Given the description of an element on the screen output the (x, y) to click on. 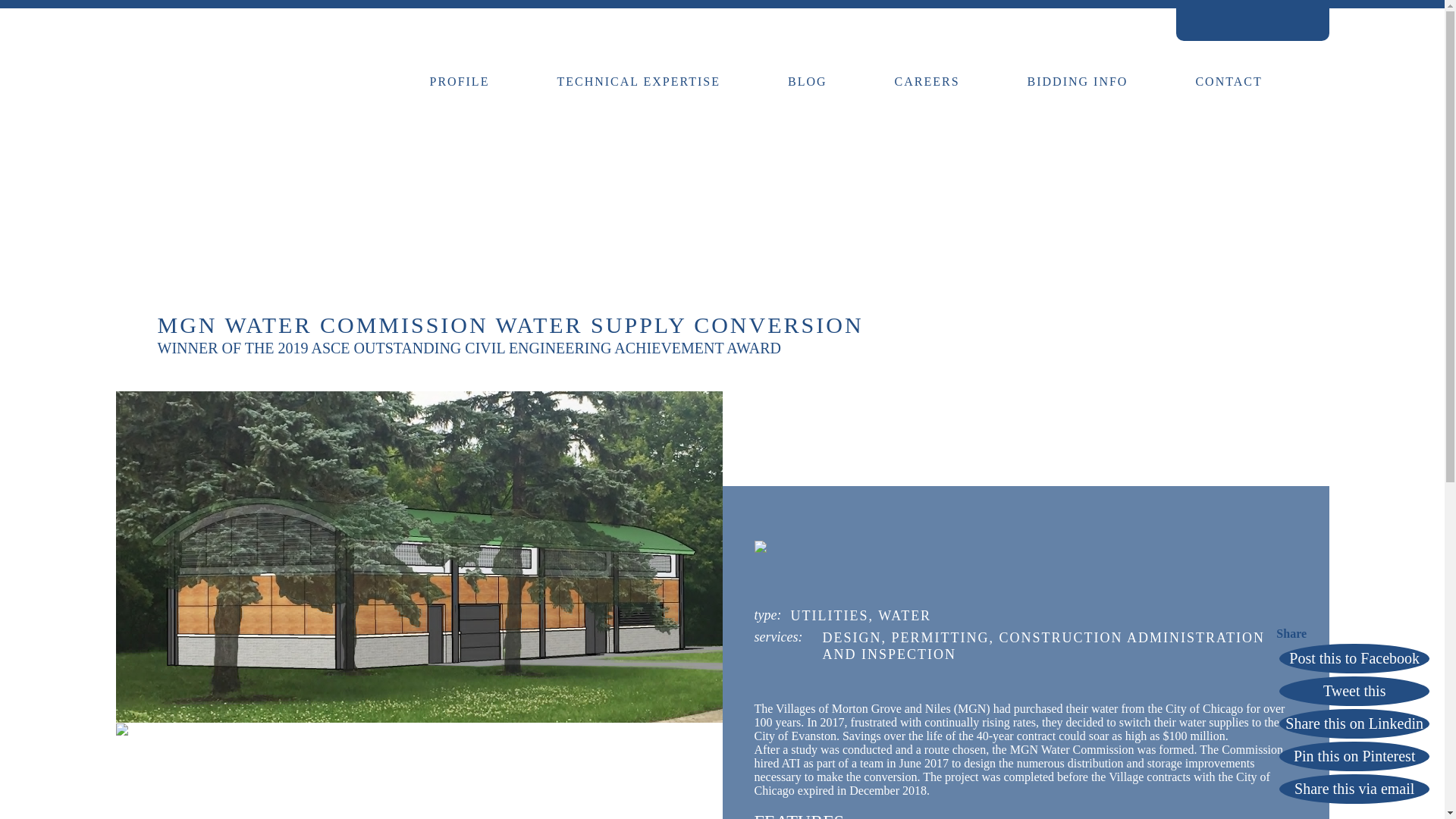
Post this to Facebook (1354, 658)
PROFILE (459, 80)
Pin this on Pinterest (1354, 756)
Tweet this (1354, 690)
TECHNICAL EXPERTISE (638, 80)
Share this via email (1354, 788)
Share this on Linkedin (1354, 723)
